Given the description of an element on the screen output the (x, y) to click on. 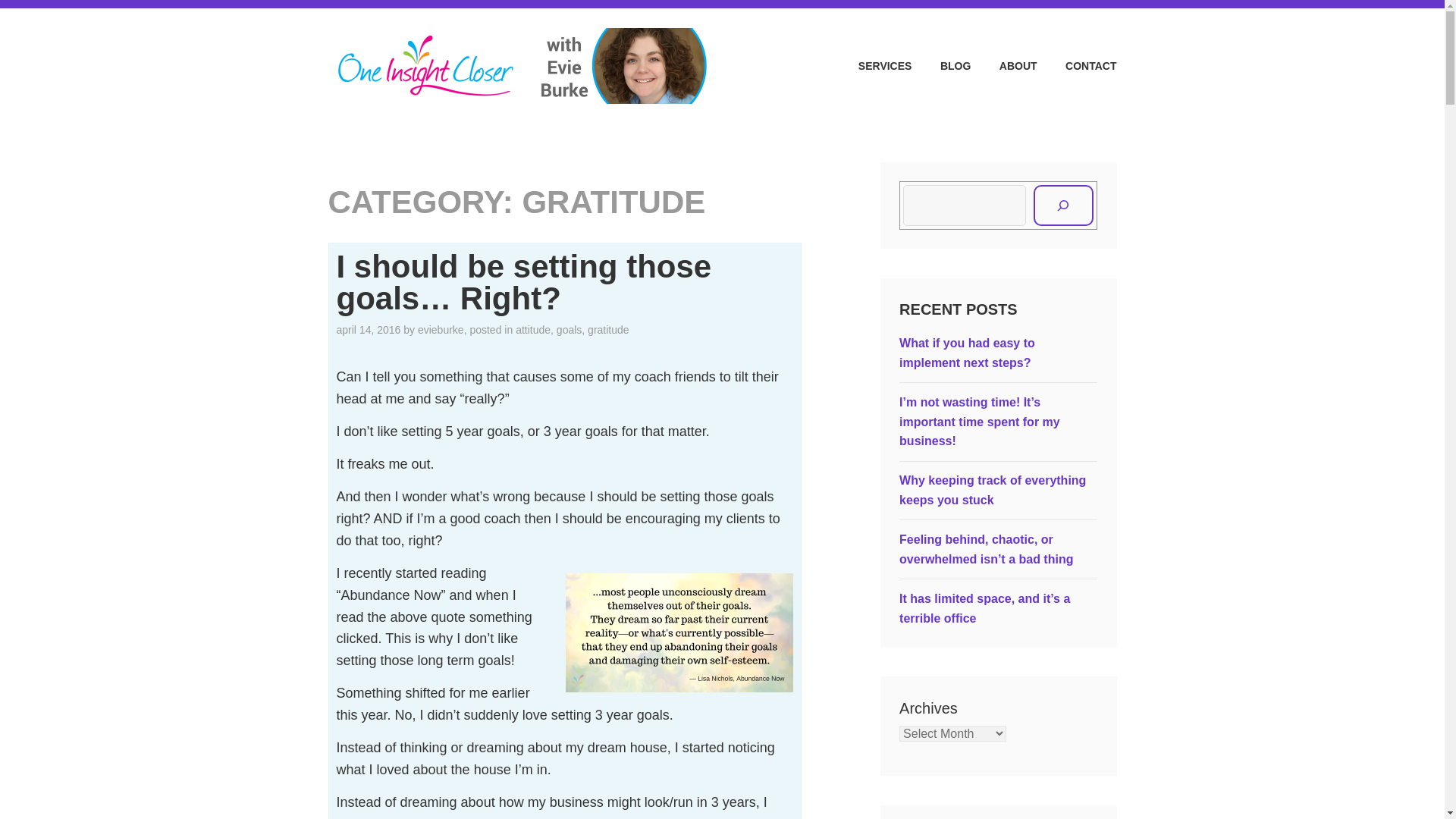
CONTACT (1078, 65)
attitude (532, 329)
ONE INSIGHT CLOSER (890, 43)
april 14, 2016 (368, 329)
goals (568, 329)
ABOUT (1005, 65)
evieburke (440, 329)
gratitude (608, 329)
BLOG (942, 65)
SERVICES (871, 65)
